Given the description of an element on the screen output the (x, y) to click on. 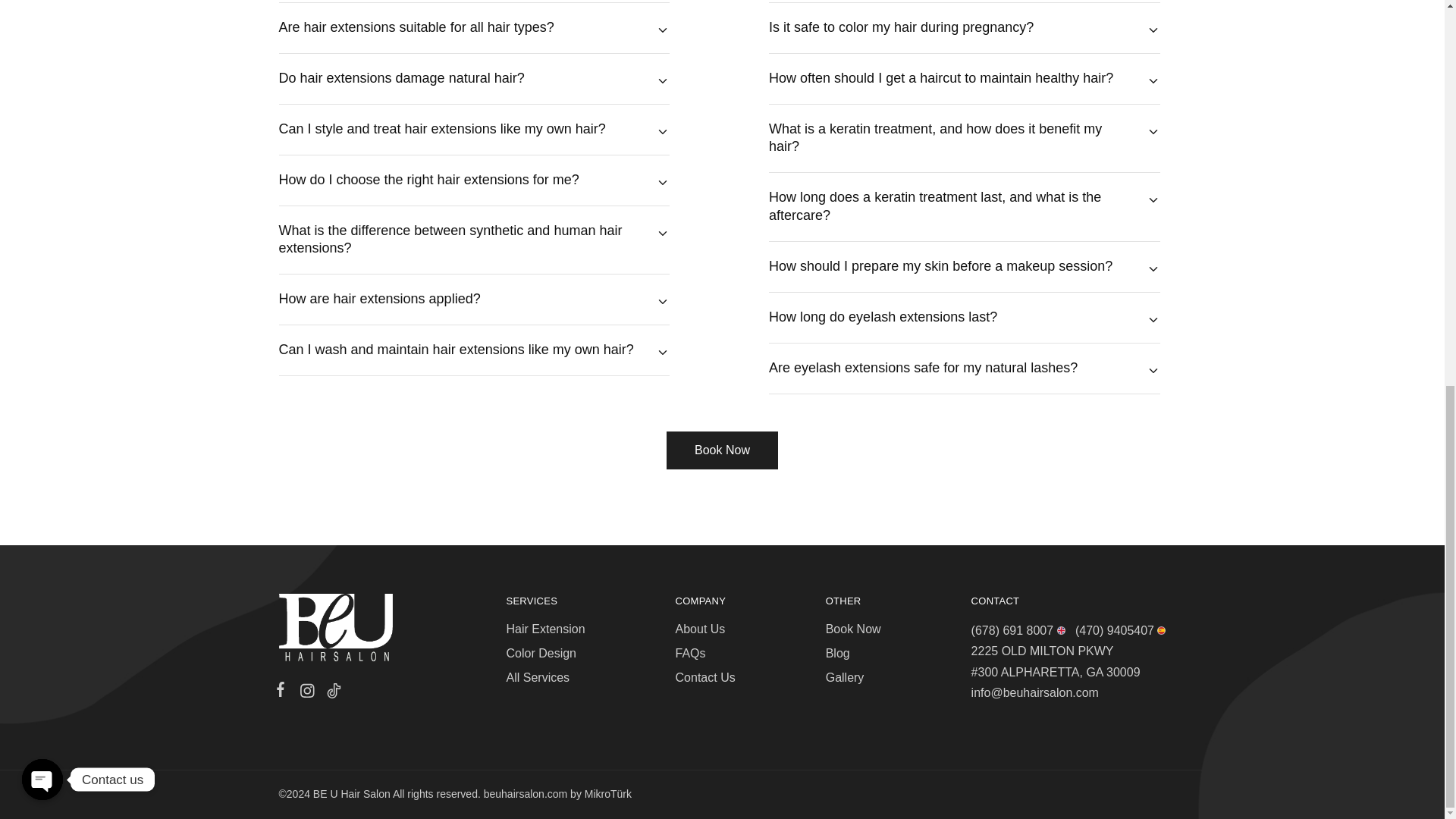
Gallery (844, 676)
About Us (700, 628)
Book Now (721, 450)
Blog (837, 653)
Facebook (283, 691)
Tiktok (330, 692)
Book Now (852, 628)
Instagram (307, 692)
Color Design (541, 653)
FAQs (690, 653)
Hair Extension (545, 628)
Contact Us (705, 676)
All Services (538, 676)
